Given the description of an element on the screen output the (x, y) to click on. 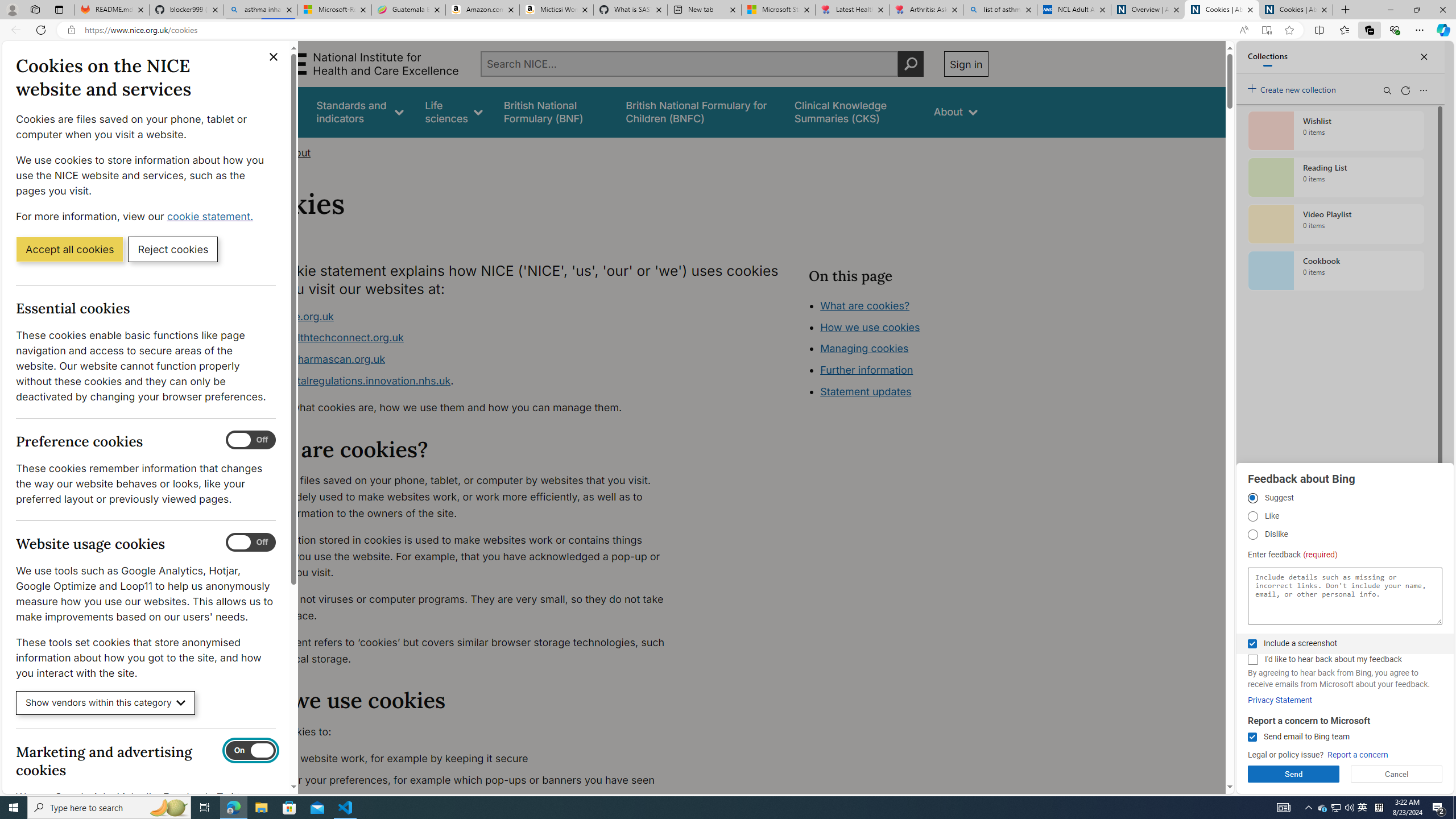
Send email to Bing team (1251, 737)
Managing cookies (863, 348)
About (296, 152)
Send (1293, 773)
make our website work, for example by keeping it secure (464, 759)
Guidance (272, 111)
About (296, 152)
Perform search (909, 63)
www.ukpharmascan.org.uk (318, 359)
Preference cookies (250, 439)
